Given the description of an element on the screen output the (x, y) to click on. 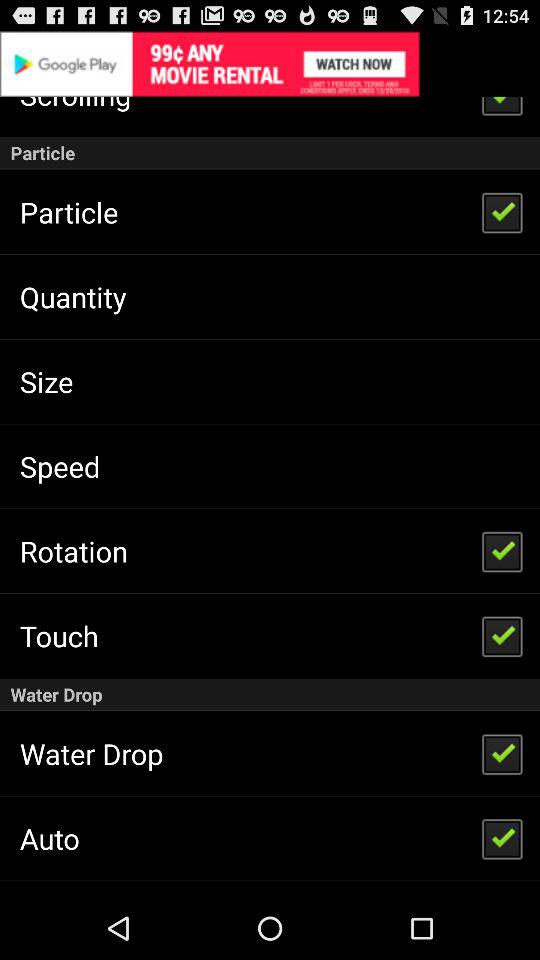
view advertisement (270, 64)
